Given the description of an element on the screen output the (x, y) to click on. 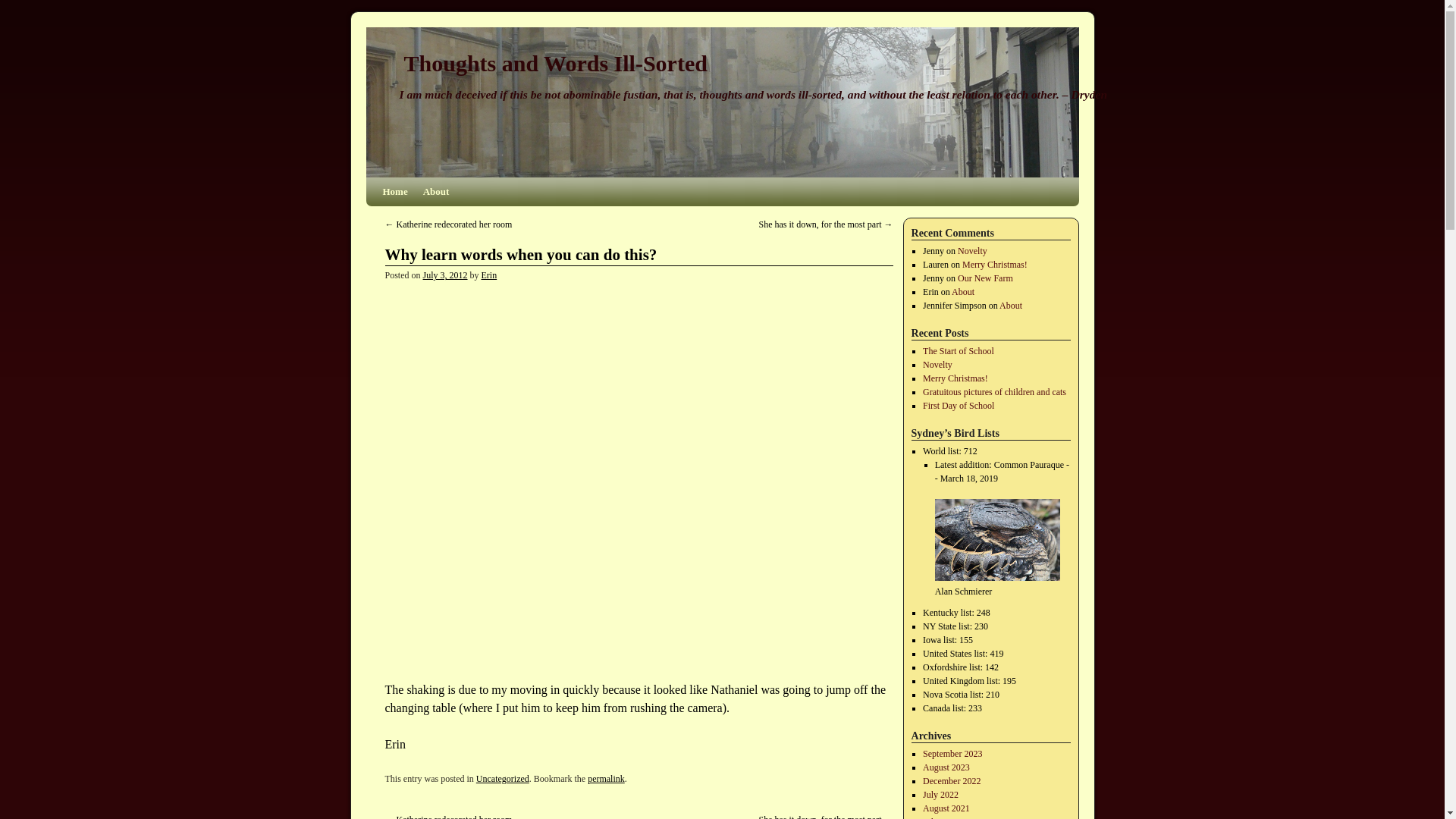
Thoughts and Words Ill-Sorted (554, 63)
About (1010, 305)
Erin (489, 275)
August 2023 (946, 767)
Merry Christmas! (994, 264)
permalink (606, 778)
View all posts by Erin (489, 275)
First Day of School (958, 405)
Thoughts and Words Ill-Sorted (554, 63)
September 2023 (952, 753)
